Given the description of an element on the screen output the (x, y) to click on. 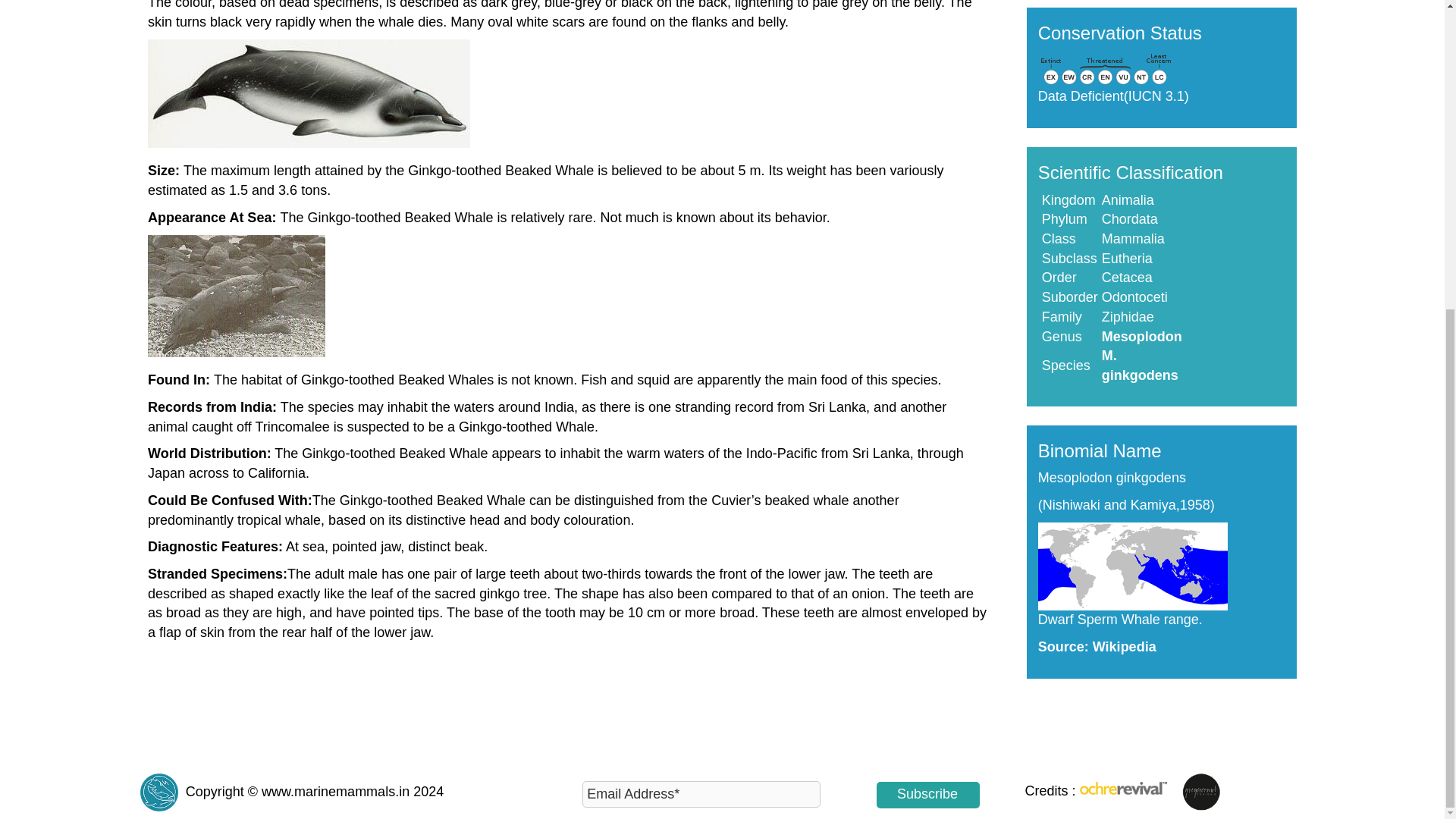
Data Deficient (1081, 96)
Subscribe (927, 795)
